Given the description of an element on the screen output the (x, y) to click on. 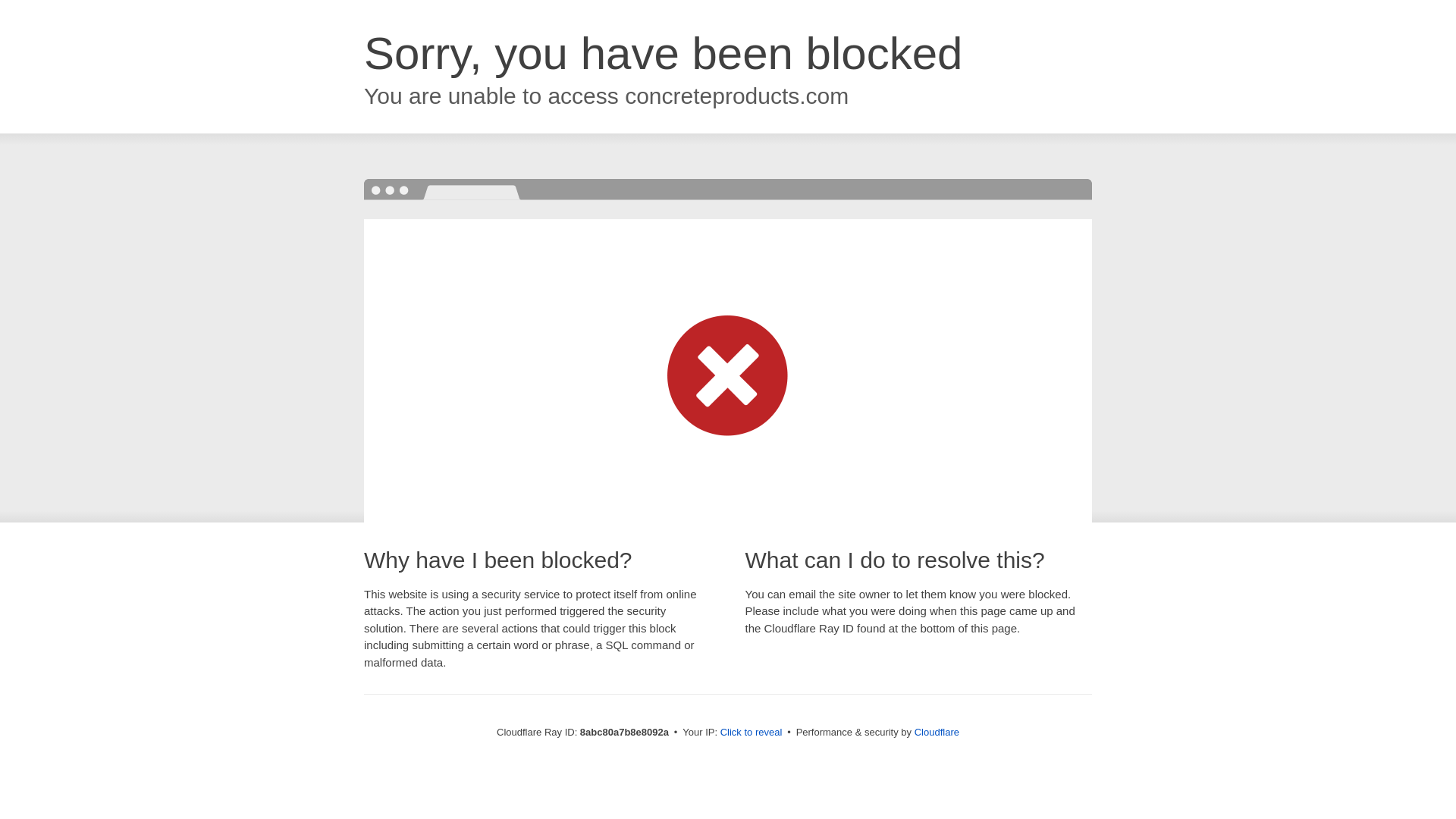
Cloudflare (936, 731)
Click to reveal (751, 732)
